Given the description of an element on the screen output the (x, y) to click on. 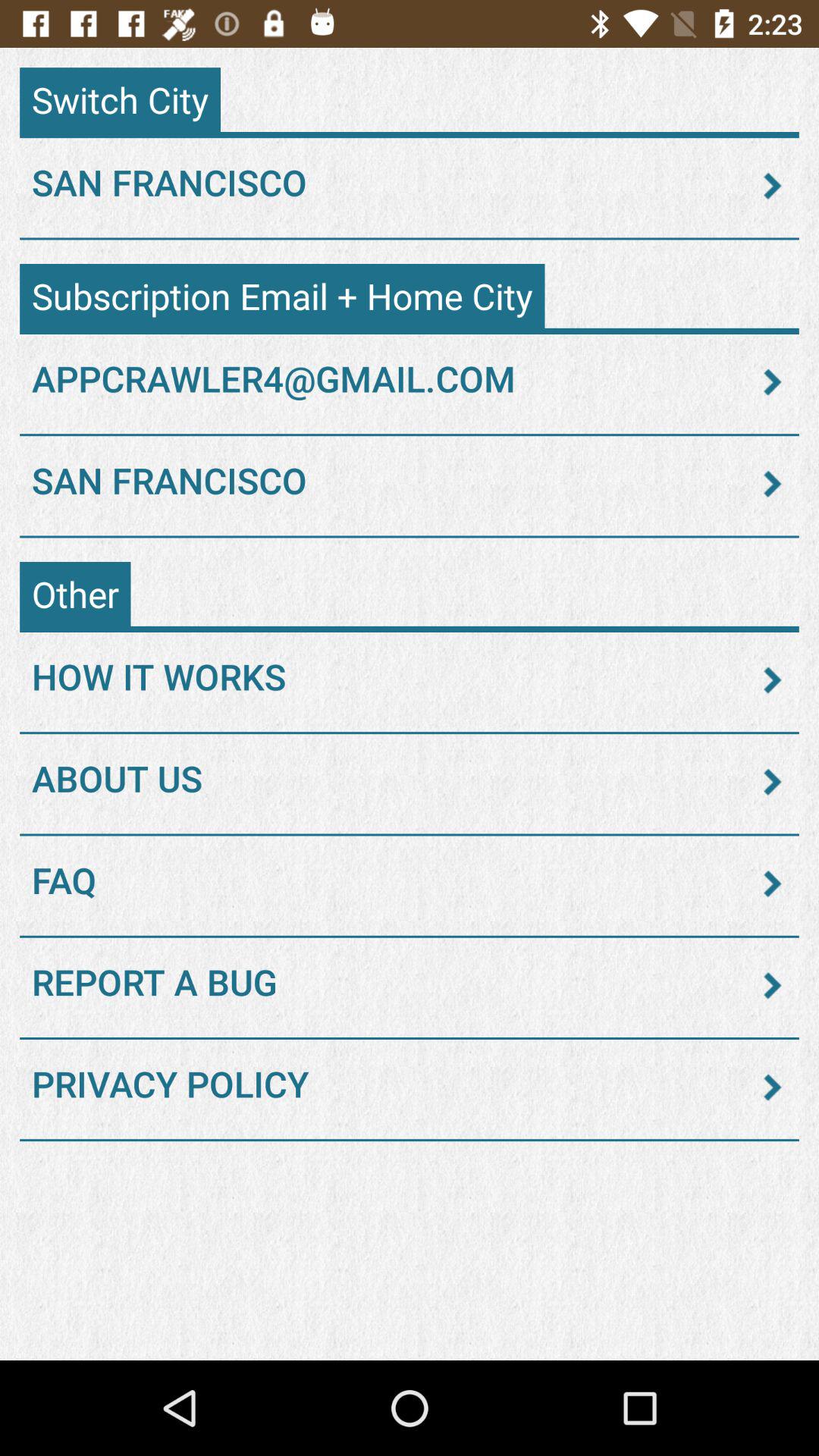
flip to the appcrawler4@gmail.com item (409, 381)
